Given the description of an element on the screen output the (x, y) to click on. 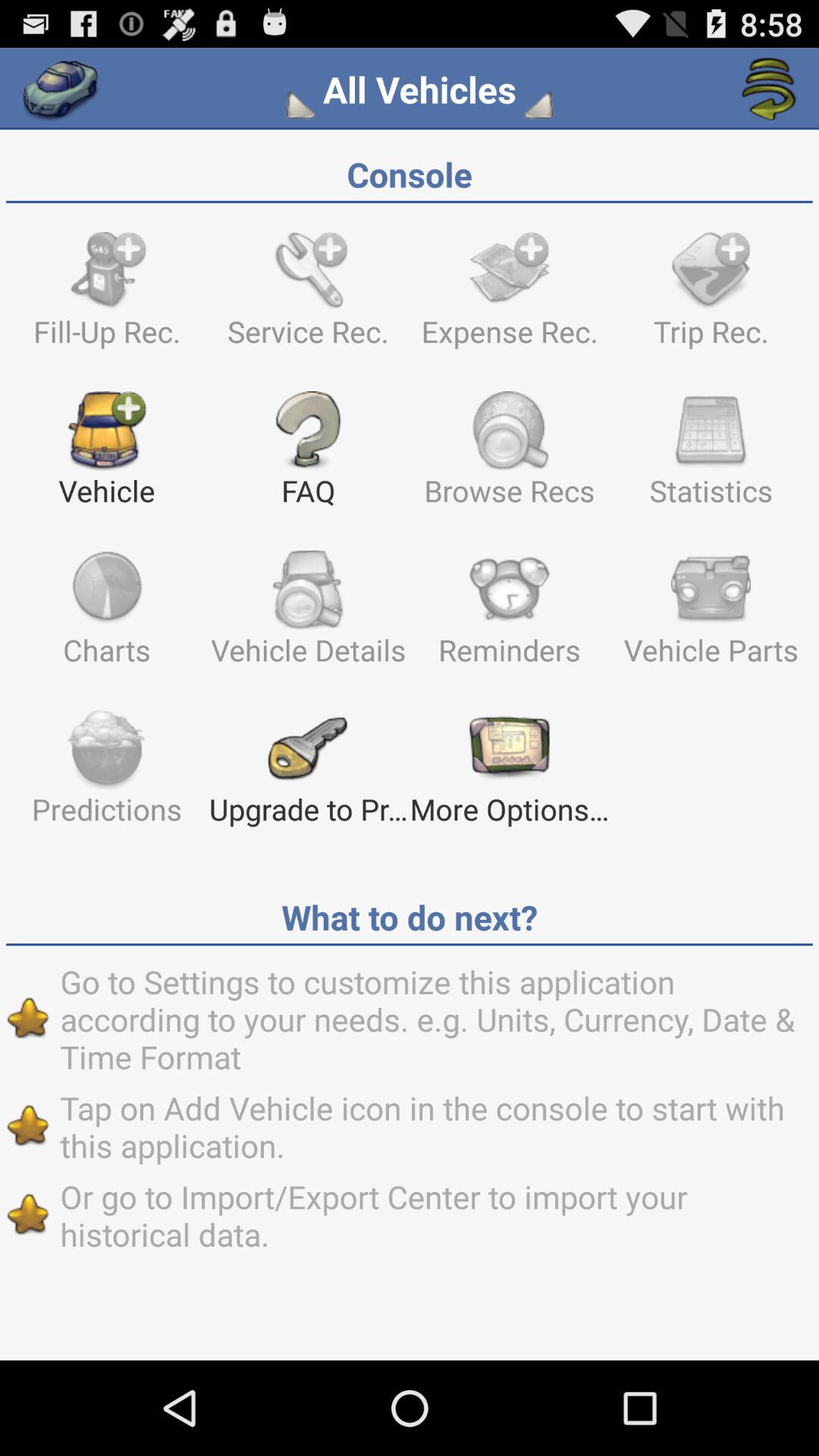
click the the blue car (60, 89)
